Given the description of an element on the screen output the (x, y) to click on. 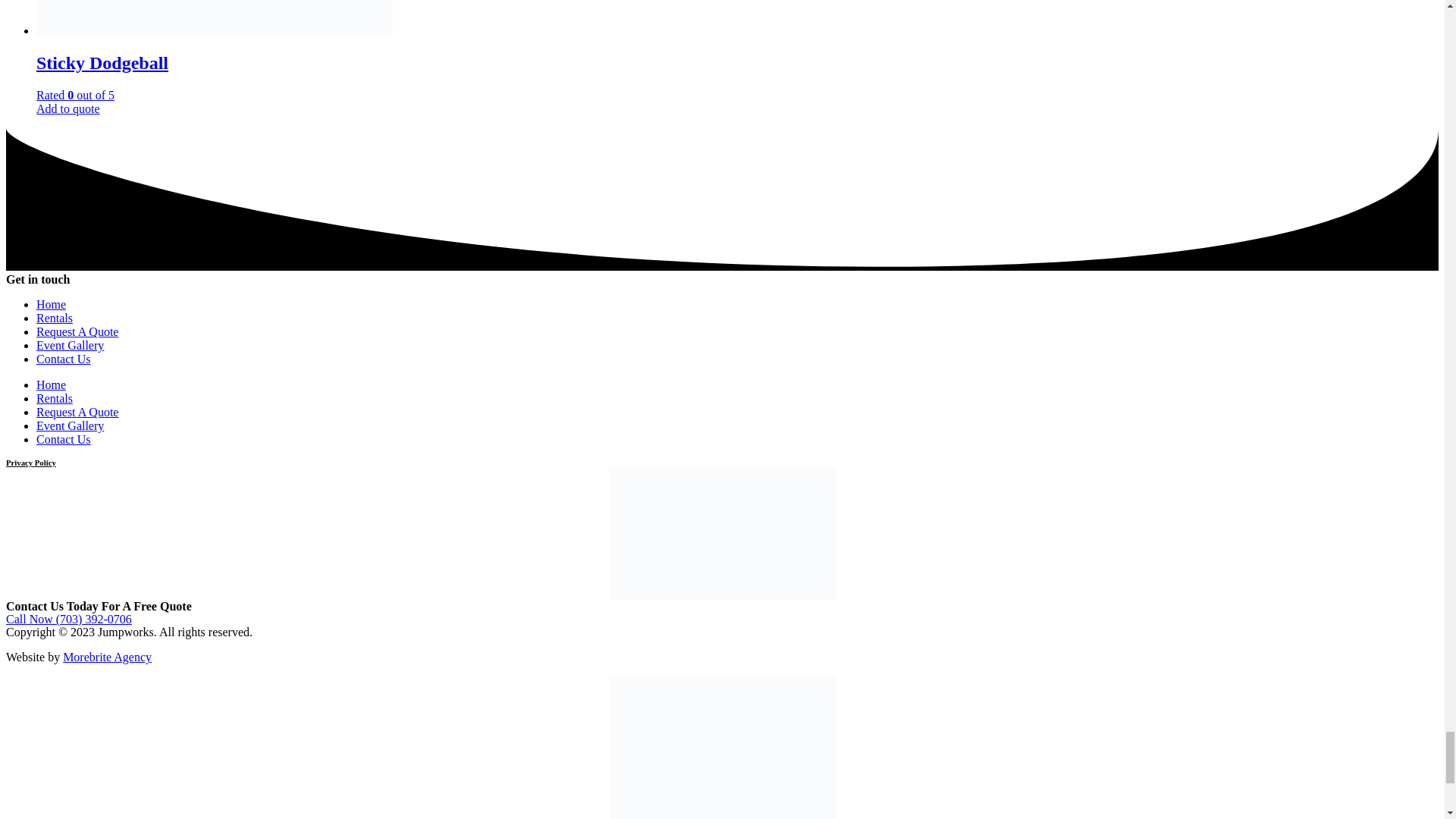
Home (50, 304)
Add to quote (68, 107)
Request A Quote (76, 331)
Rentals (54, 318)
